Given the description of an element on the screen output the (x, y) to click on. 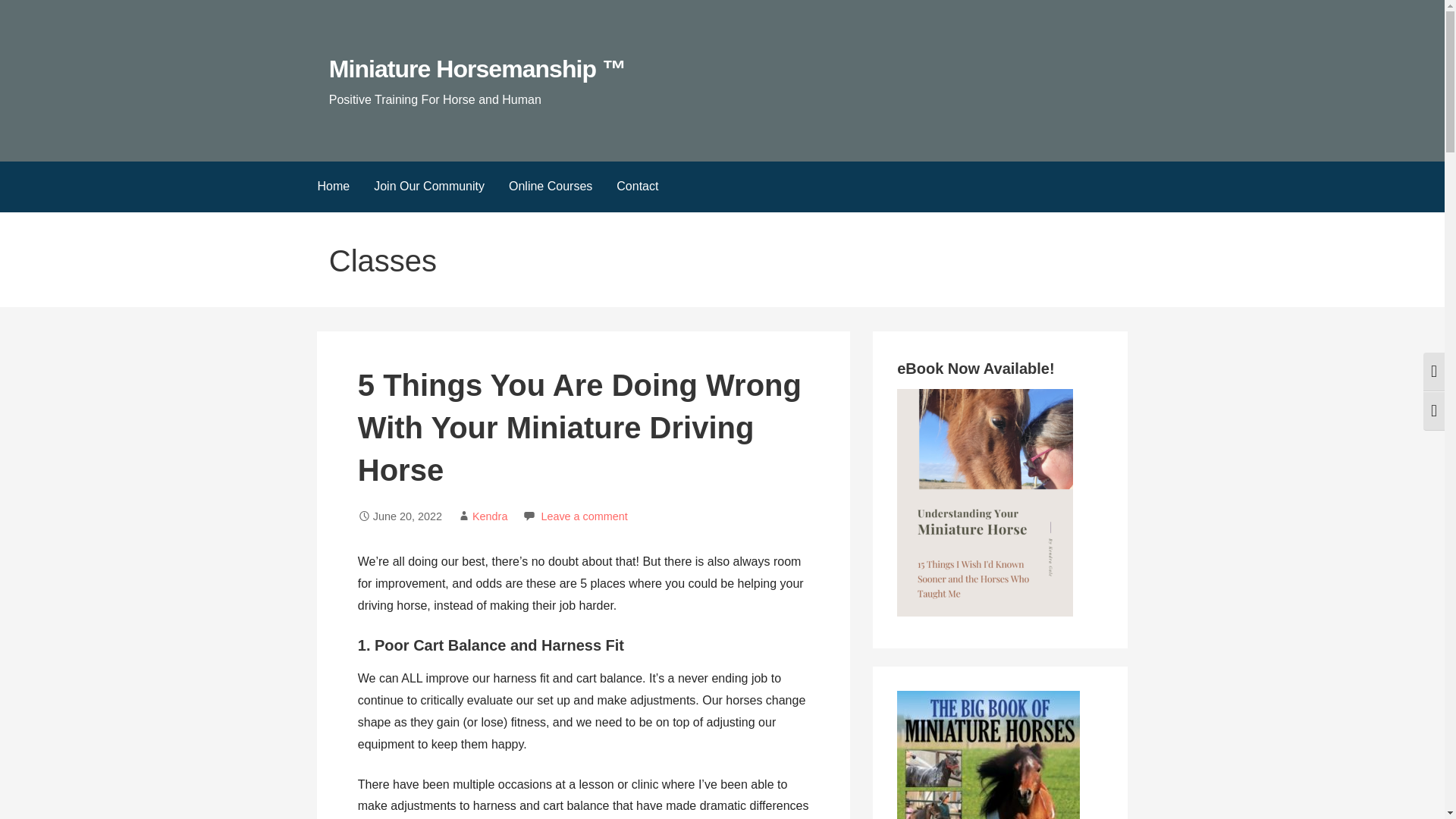
Search (31, 15)
Join Our Community (428, 186)
Kendra (488, 516)
Leave a comment (583, 516)
Online Courses (550, 186)
Home (332, 186)
Contact (636, 186)
